Given the description of an element on the screen output the (x, y) to click on. 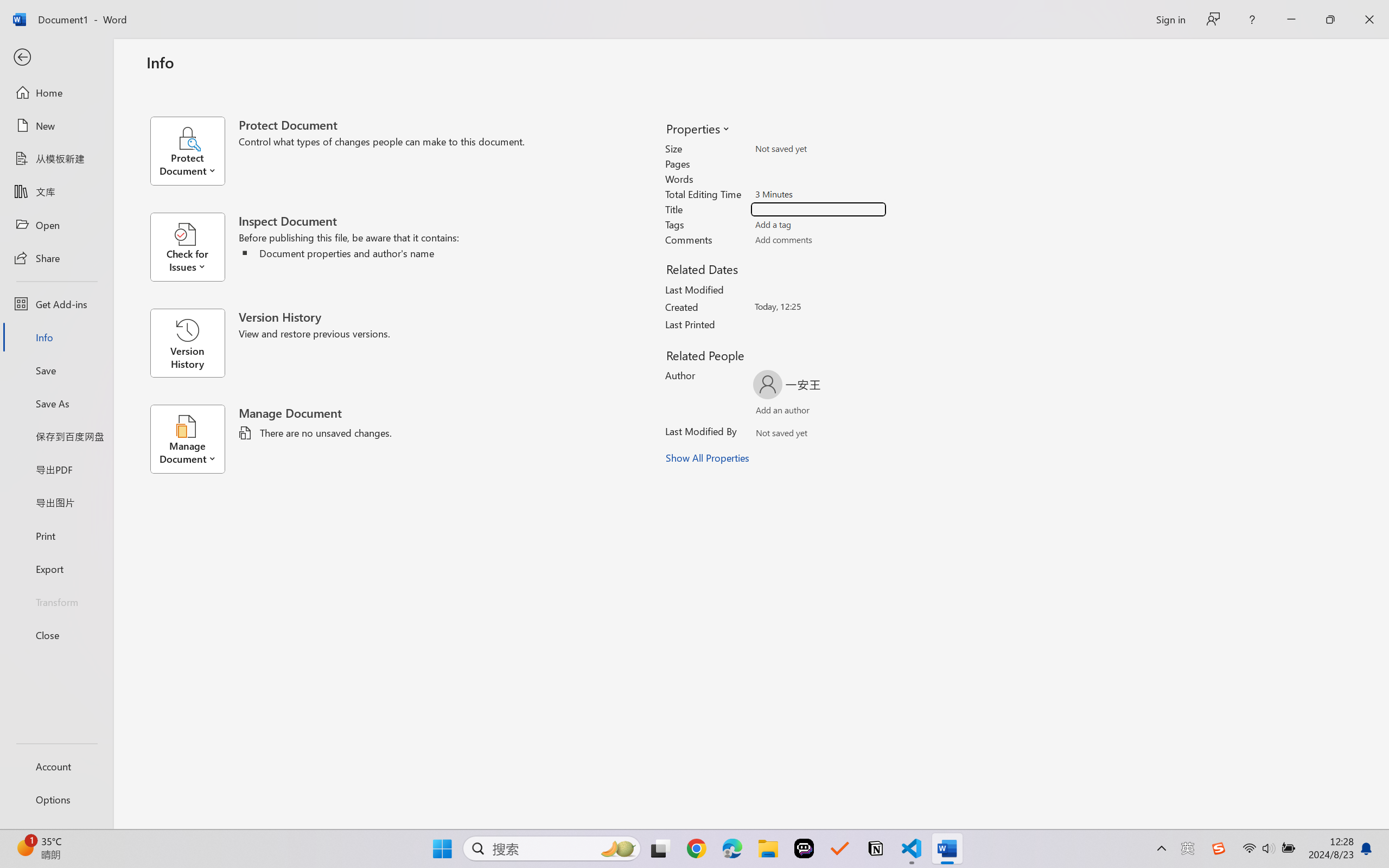
New (56, 125)
Info (56, 337)
Manage Document (194, 438)
Account (56, 765)
Size (818, 148)
Check for Issues (194, 246)
Version History (187, 343)
